Given the description of an element on the screen output the (x, y) to click on. 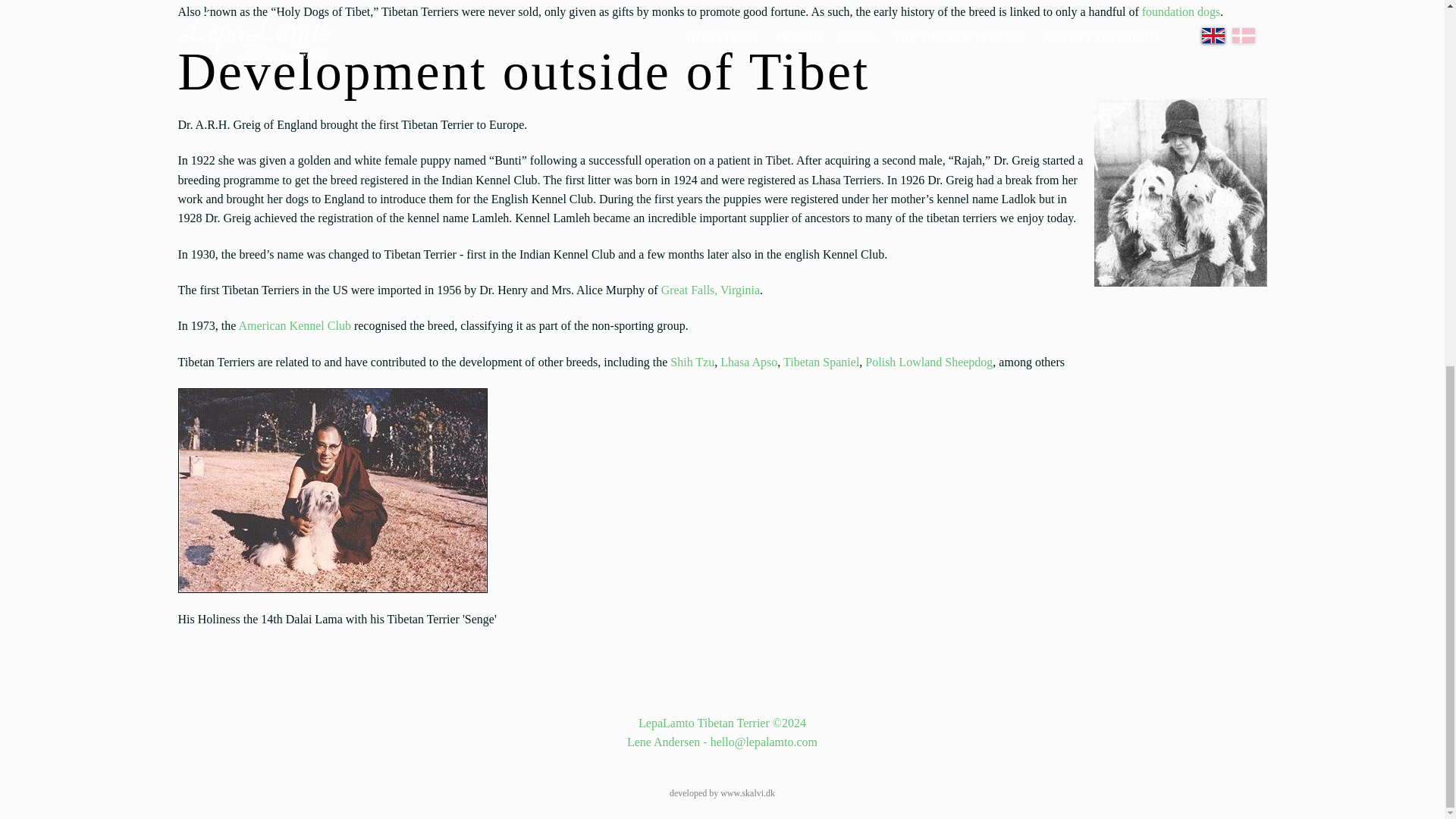
Shih Tzu (691, 361)
developed by www.skalvi.dk (721, 793)
Lhasa Apso (748, 361)
Great Falls, Virginia (710, 289)
American Kennel Club (294, 325)
Polish Lowland Sheepdog (928, 361)
foundation dogs (1181, 11)
Tibetan Spaniel (821, 361)
